Given the description of an element on the screen output the (x, y) to click on. 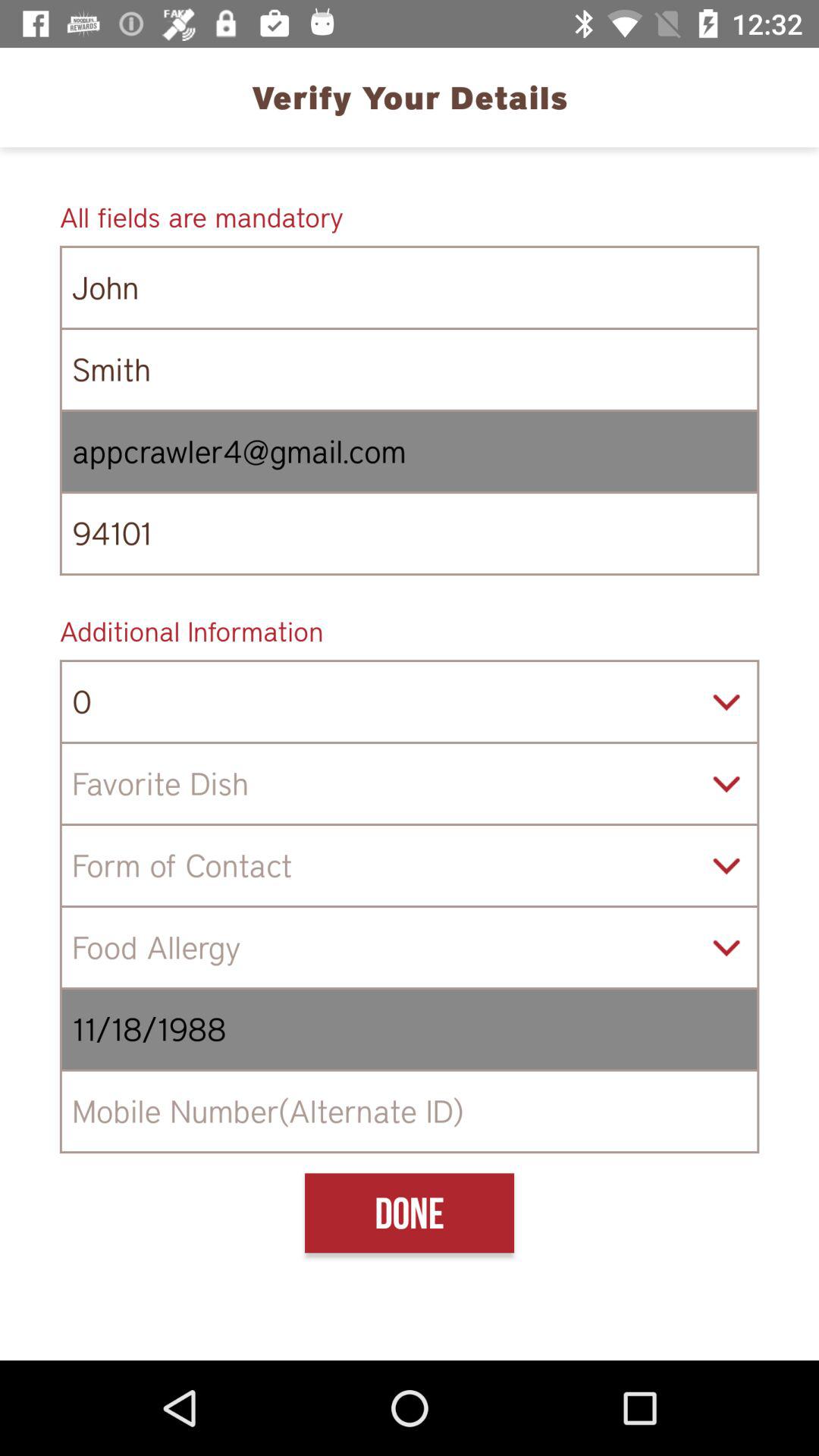
food allergy select option (409, 947)
